Given the description of an element on the screen output the (x, y) to click on. 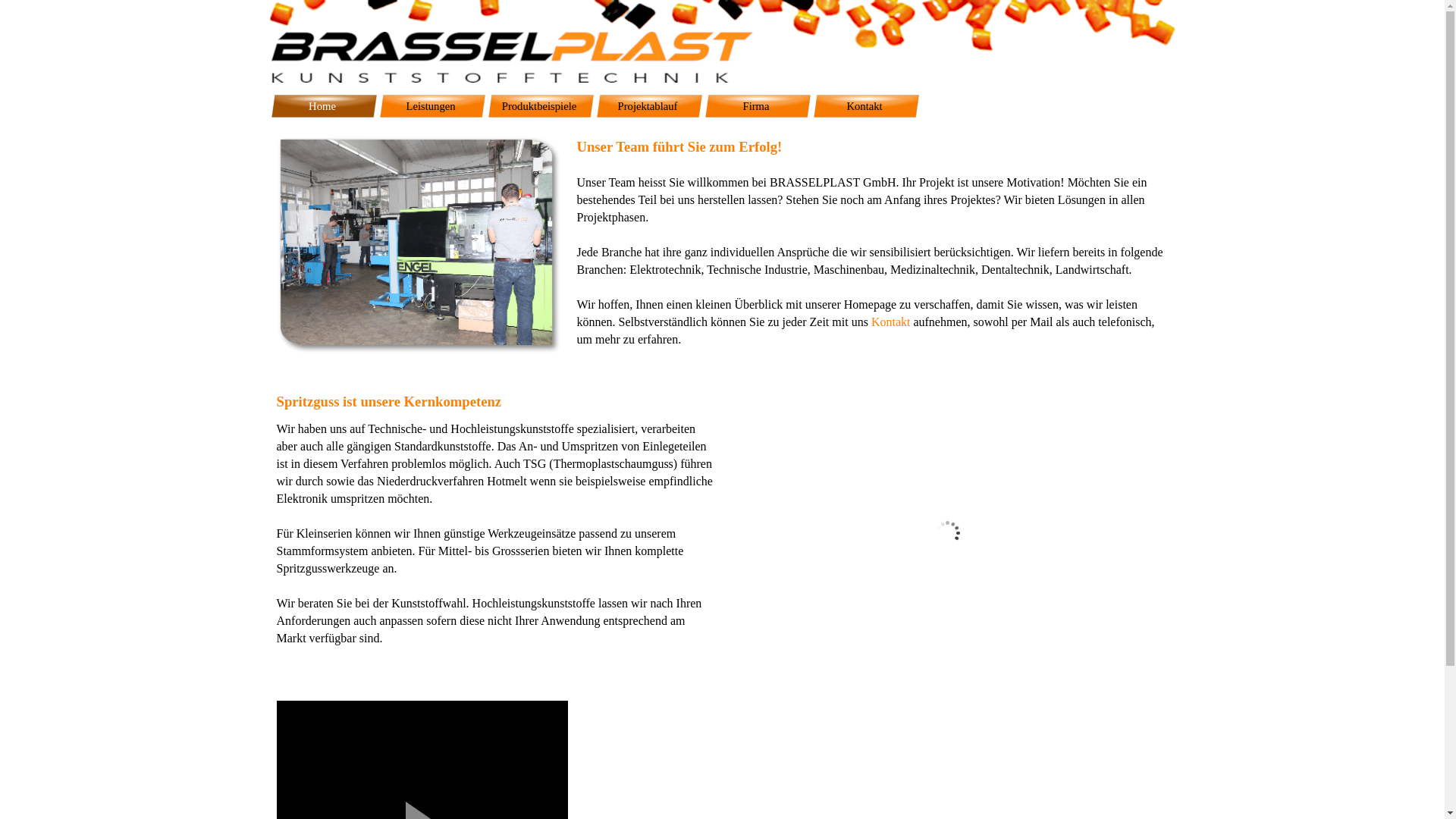
Firma Element type: text (758, 105)
Leistungen Element type: text (432, 105)
Home Element type: text (324, 105)
Kontakt Element type: text (865, 105)
Kontakt Element type: text (890, 321)
Projektablauf Element type: text (649, 105)
Produktbeispiele Element type: text (541, 105)
